Given the description of an element on the screen output the (x, y) to click on. 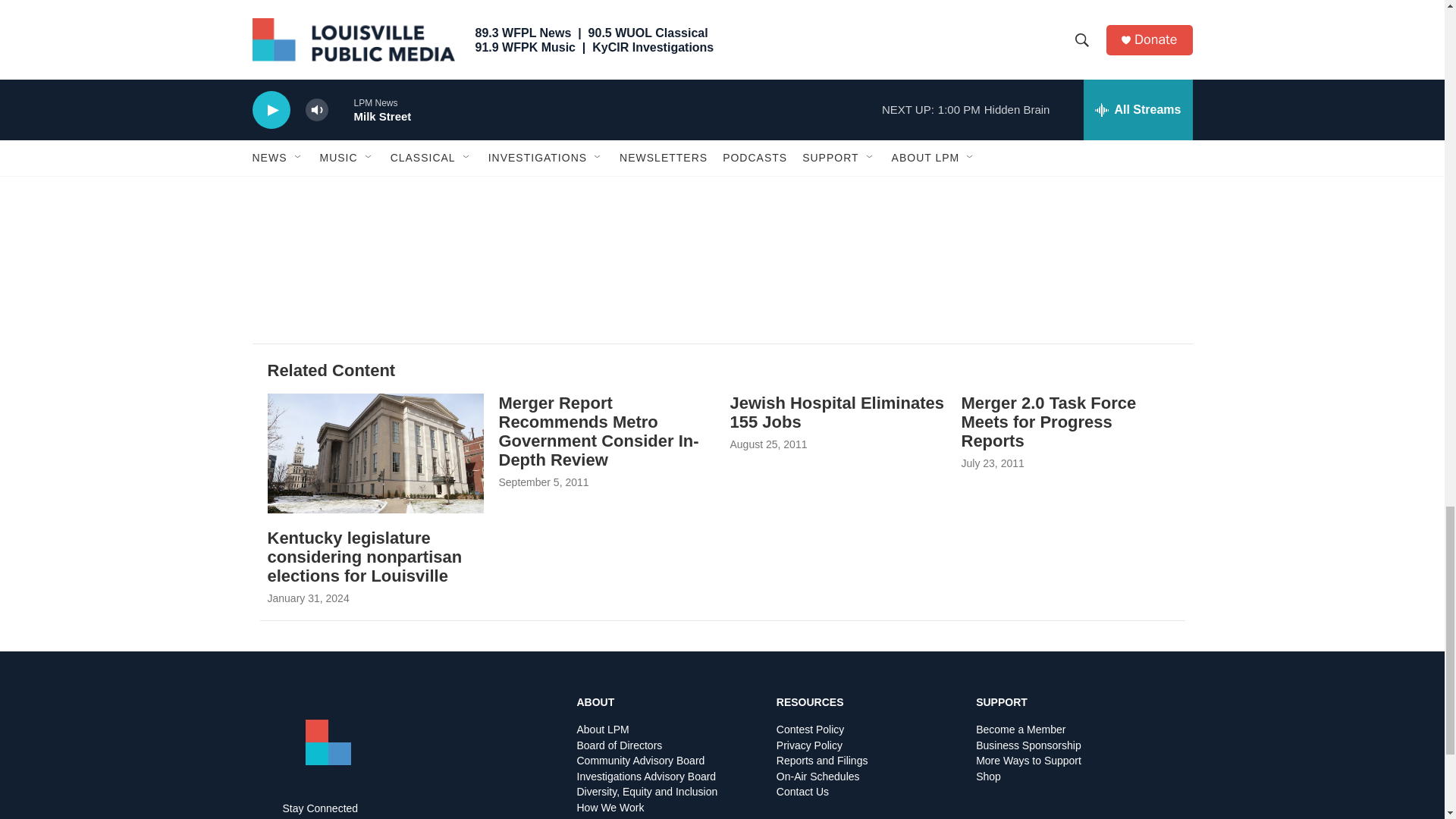
3rd party ad content (1062, 31)
3rd party ad content (1062, 187)
